Given the description of an element on the screen output the (x, y) to click on. 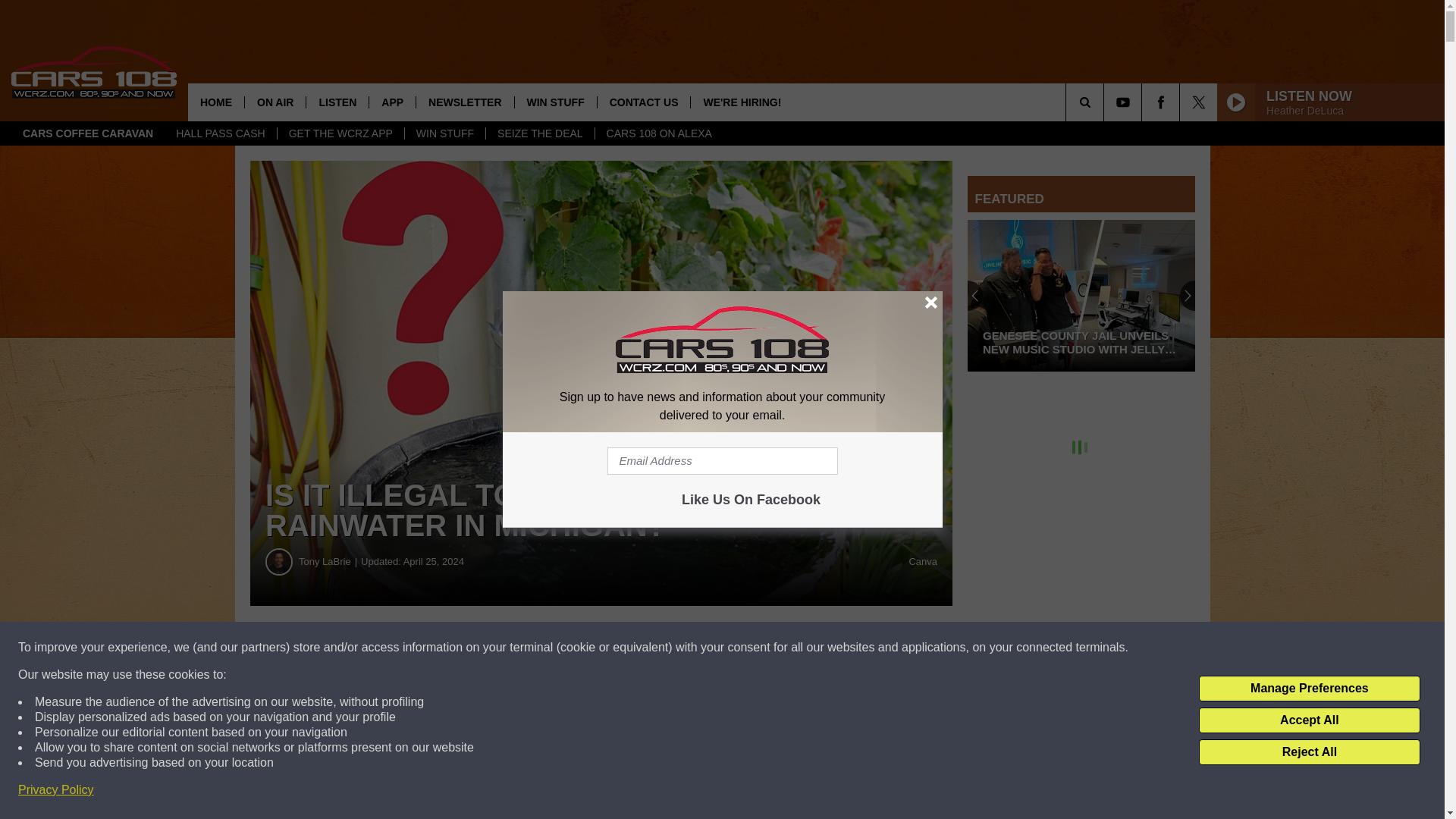
WE'RE HIRING! (741, 102)
Accept All (1309, 720)
Share on Twitter (741, 647)
Email Address (722, 461)
APP (391, 102)
CONTACT US (643, 102)
WIN STUFF (554, 102)
CARS COFFEE CARAVAN (87, 133)
Privacy Policy (55, 789)
HALL PASS CASH (220, 133)
SEARCH (1106, 102)
SEARCH (1106, 102)
GET THE WCRZ APP (340, 133)
WIN STUFF (444, 133)
Manage Preferences (1309, 688)
